Given the description of an element on the screen output the (x, y) to click on. 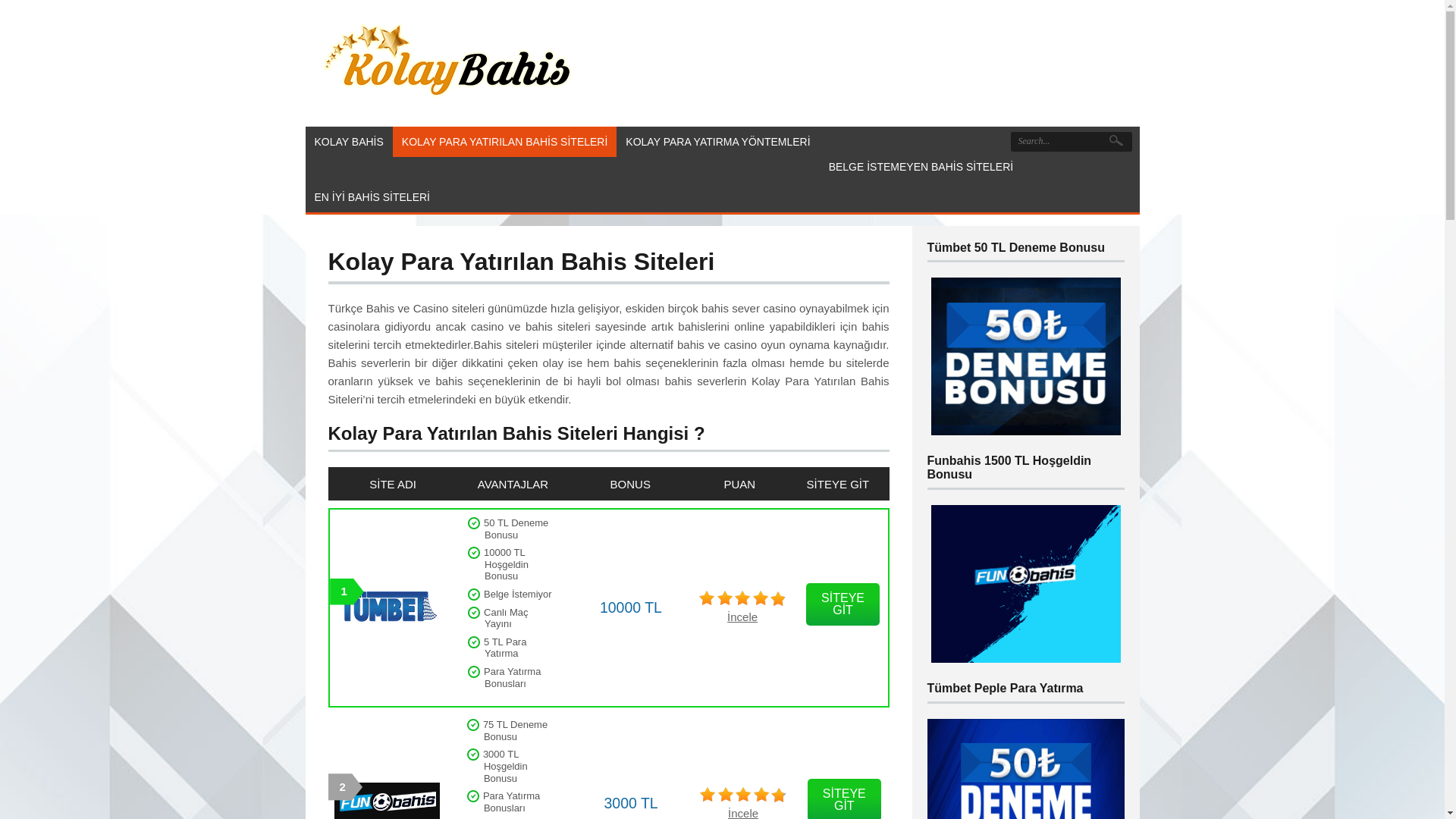
SITEYE GIT Element type: text (842, 604)
KOLAY PARA YATIRILAN BAHIS SITELERI Element type: text (504, 140)
Kolay Bahis Element type: hover (446, 106)
KOLAY BAHIS Element type: text (348, 140)
